Given the description of an element on the screen output the (x, y) to click on. 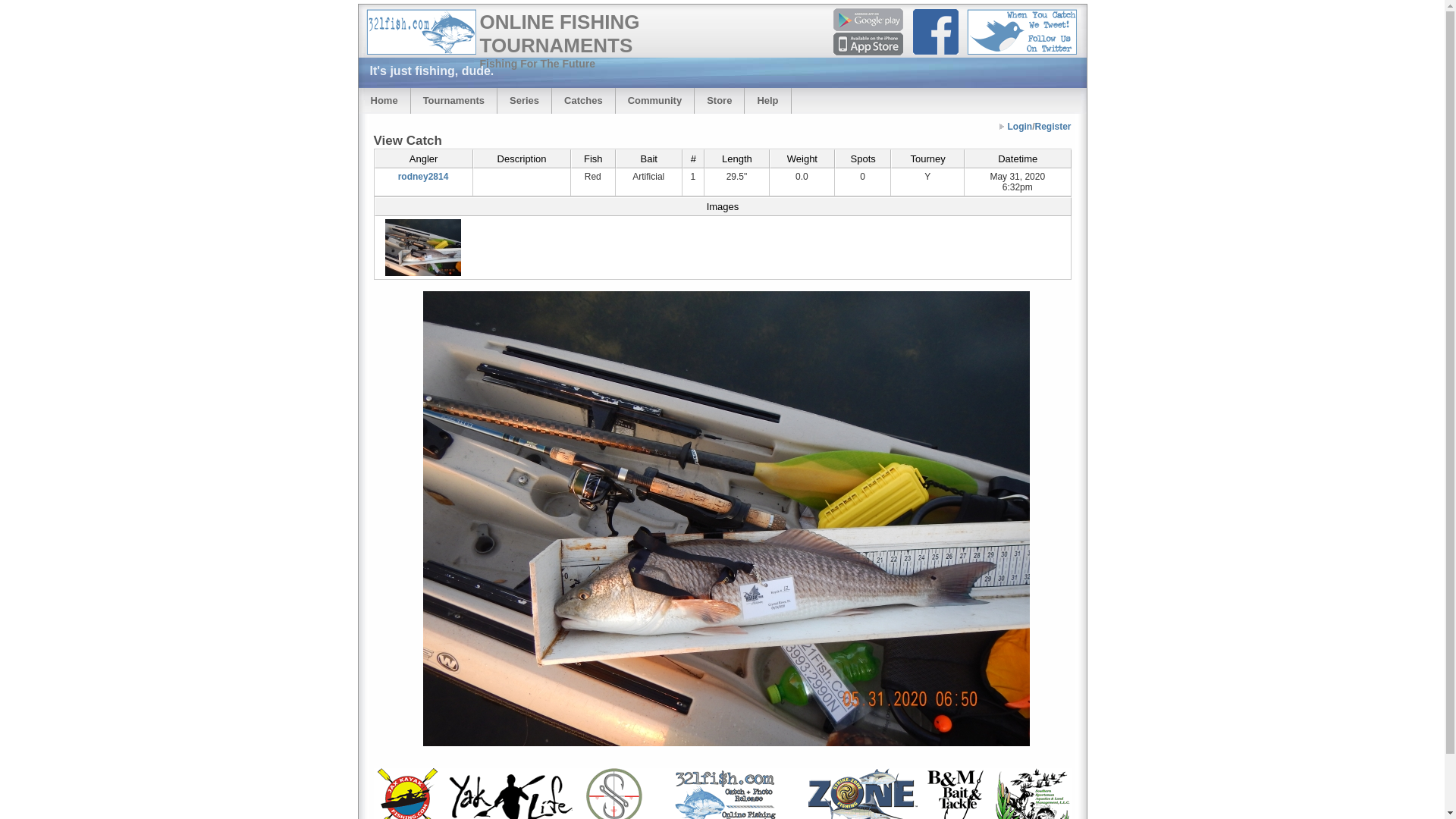
ONLINE FISHING TOURNAMENTS Element type: text (559, 33)
Tournaments Element type: text (453, 100)
Home Element type: text (383, 100)
Catches Element type: text (583, 100)
App at Google PlayStore Element type: hover (867, 19)
rodney2814 Element type: text (423, 176)
Community Element type: text (654, 100)
Register Element type: text (1052, 126)
Follow Us On Twitter - When You Catch We Tweet! Element type: hover (1021, 31)
Store Element type: text (718, 100)
Help Element type: text (767, 100)
Login Element type: text (1019, 126)
Series Element type: text (524, 100)
Facebook Element type: hover (935, 31)
App at Apple AppStore Element type: hover (867, 43)
321Fish.com - Online Fishing Tournaments Element type: hover (420, 31)
